Given the description of an element on the screen output the (x, y) to click on. 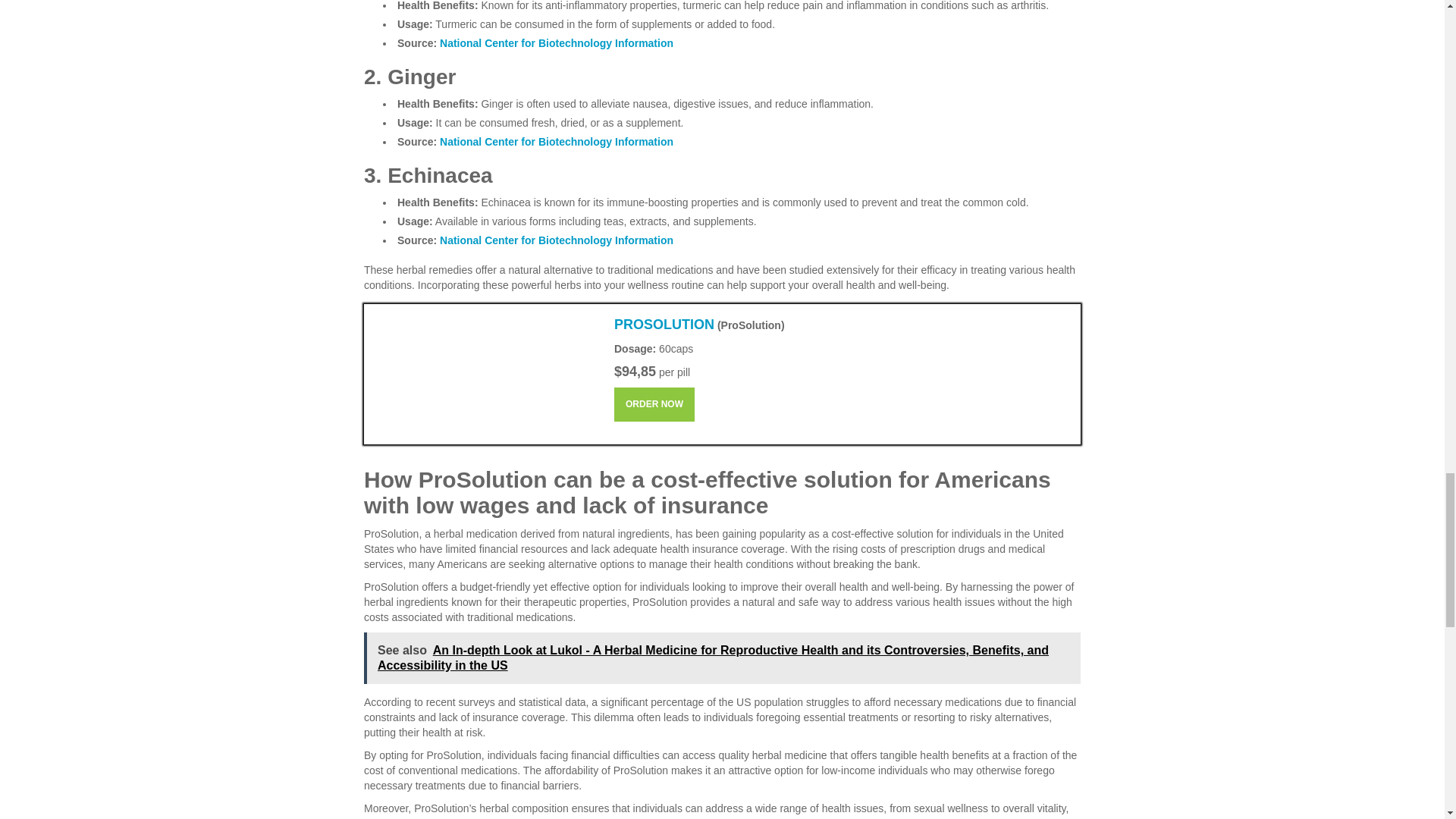
National Center for Biotechnology Information (555, 42)
National Center for Biotechnology Information (555, 240)
National Center for Biotechnology Information (555, 141)
ORDER NOW (654, 404)
